Given the description of an element on the screen output the (x, y) to click on. 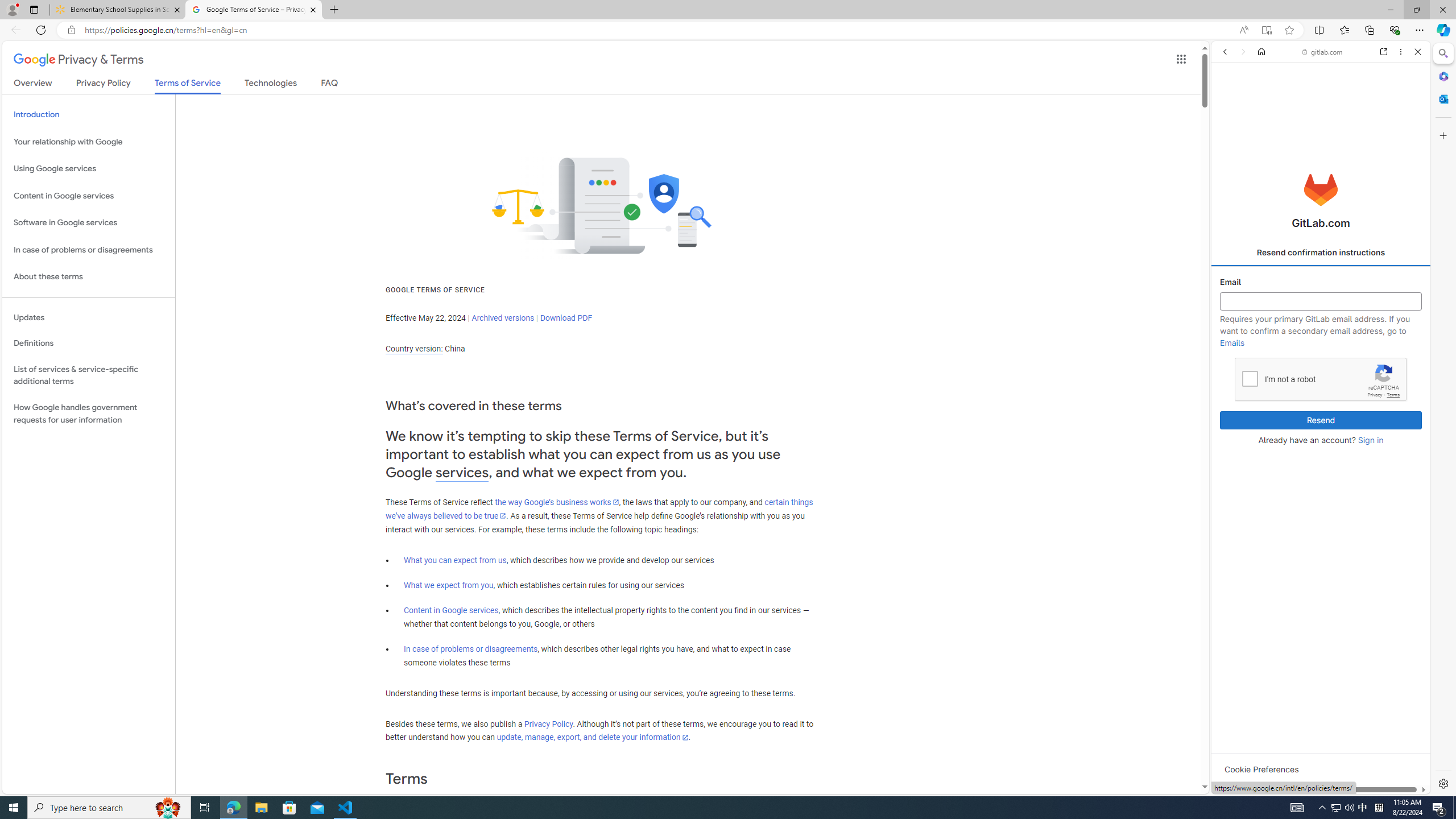
Class: gb_E (1181, 59)
Definitions (88, 343)
About GitLab (1320, 336)
GitLab.com (1321, 189)
Register Now (1320, 253)
ALL   (1228, 130)
About these terms (88, 276)
